Given the description of an element on the screen output the (x, y) to click on. 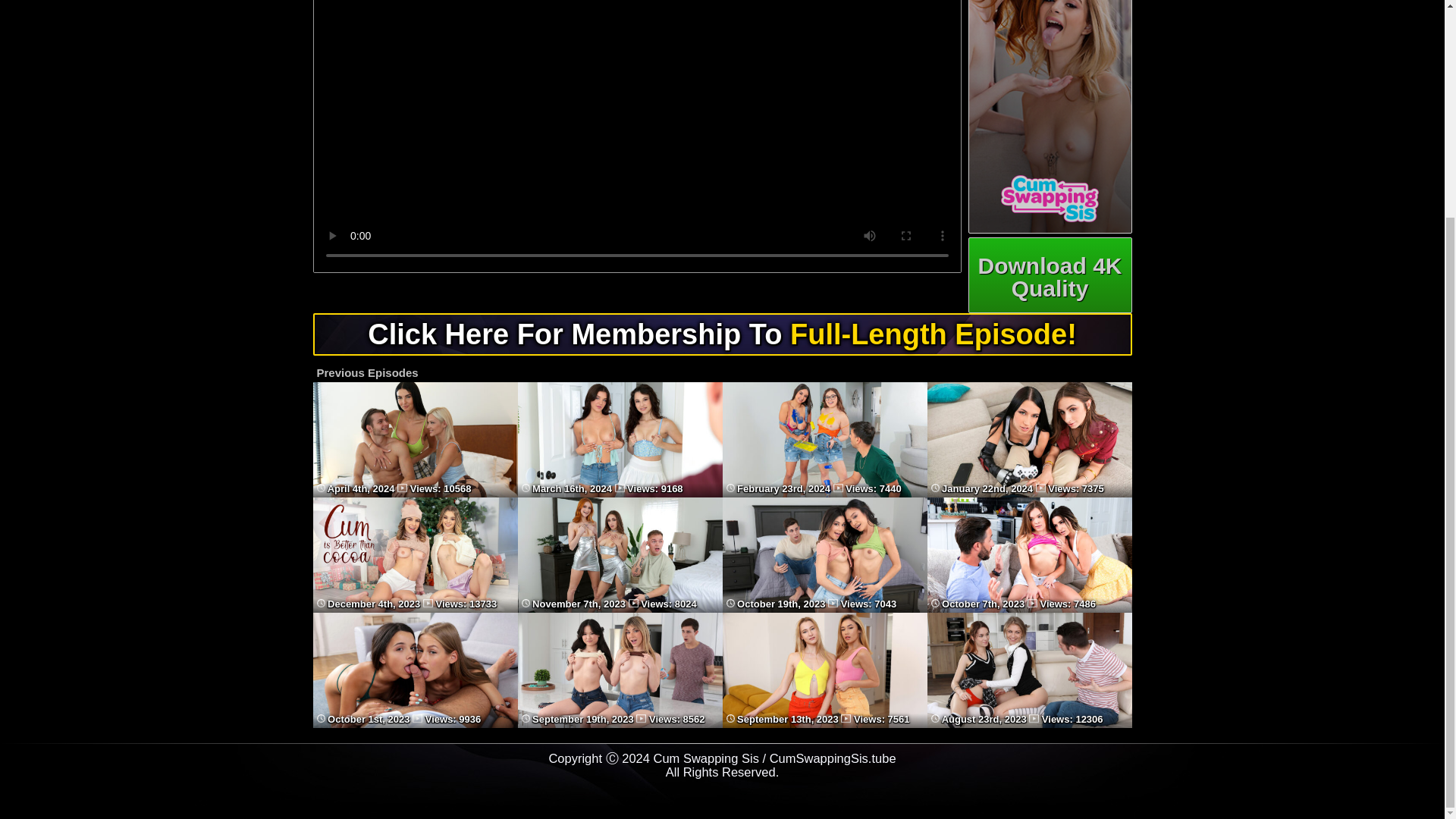
Can I Please Fuck Your Friend (1028, 609)
Stepsis Gets A Fresh Coat (824, 493)
Giving Stepbro Something To Do (619, 493)
We Love Cyber Monday (619, 609)
Download 4K Quality (1049, 274)
Making Stepbro Rise And Shine (414, 493)
Click Here For Membership To Full-Length Episode! (722, 333)
Click Here For Membership To Full-Length Episode! (722, 339)
Our Fantasy Date (1028, 493)
Stepsis Knows A Thing Or Two About Semen And Sperm (824, 609)
Cum Is Better Than Cocoa (414, 609)
